Given the description of an element on the screen output the (x, y) to click on. 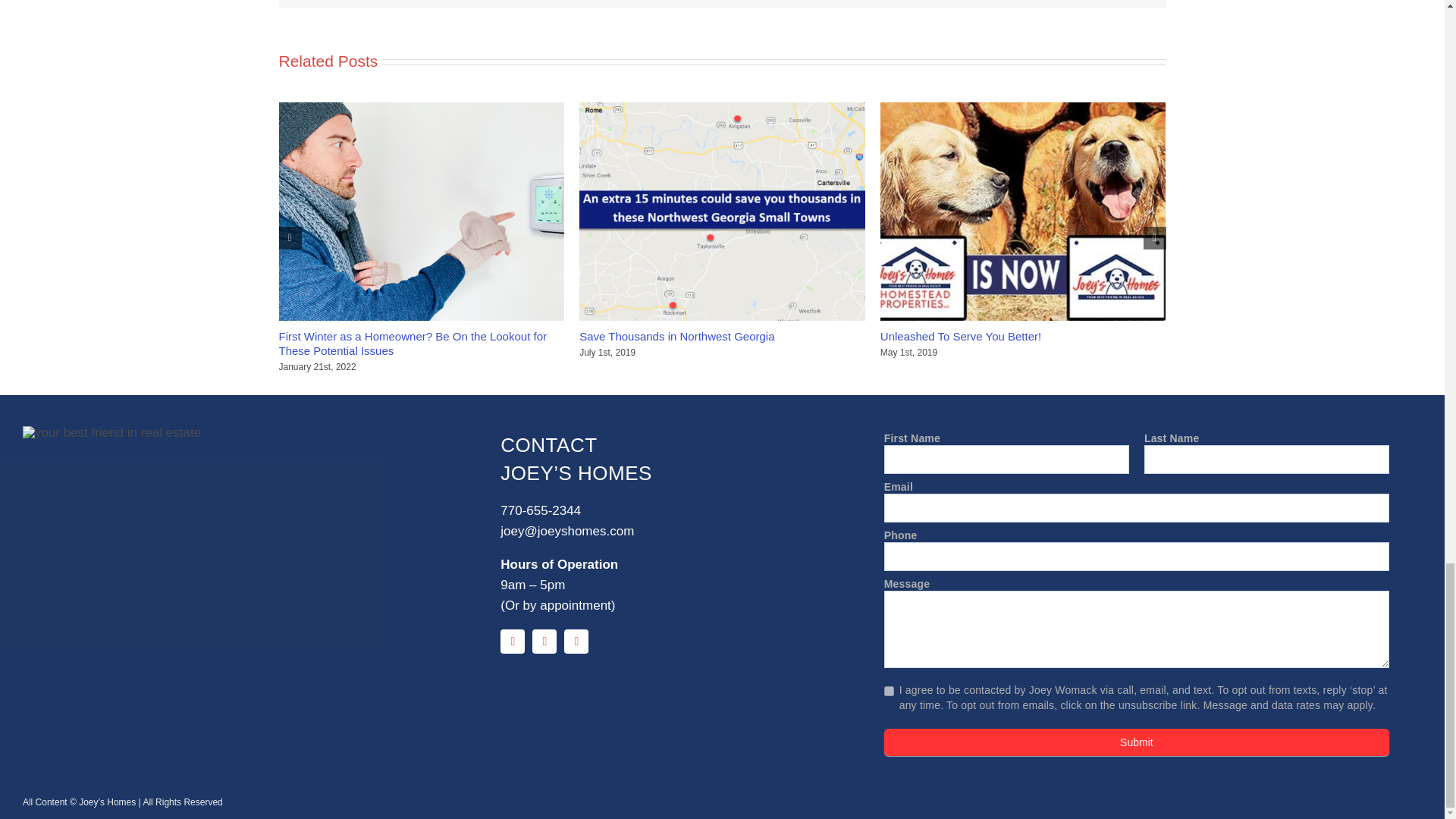
Facebook (512, 641)
your best friend in real estate (111, 431)
Save Thousands in Northwest Georgia (676, 336)
X (544, 641)
Unleashed To Serve You Better! (960, 336)
on (888, 691)
